Given the description of an element on the screen output the (x, y) to click on. 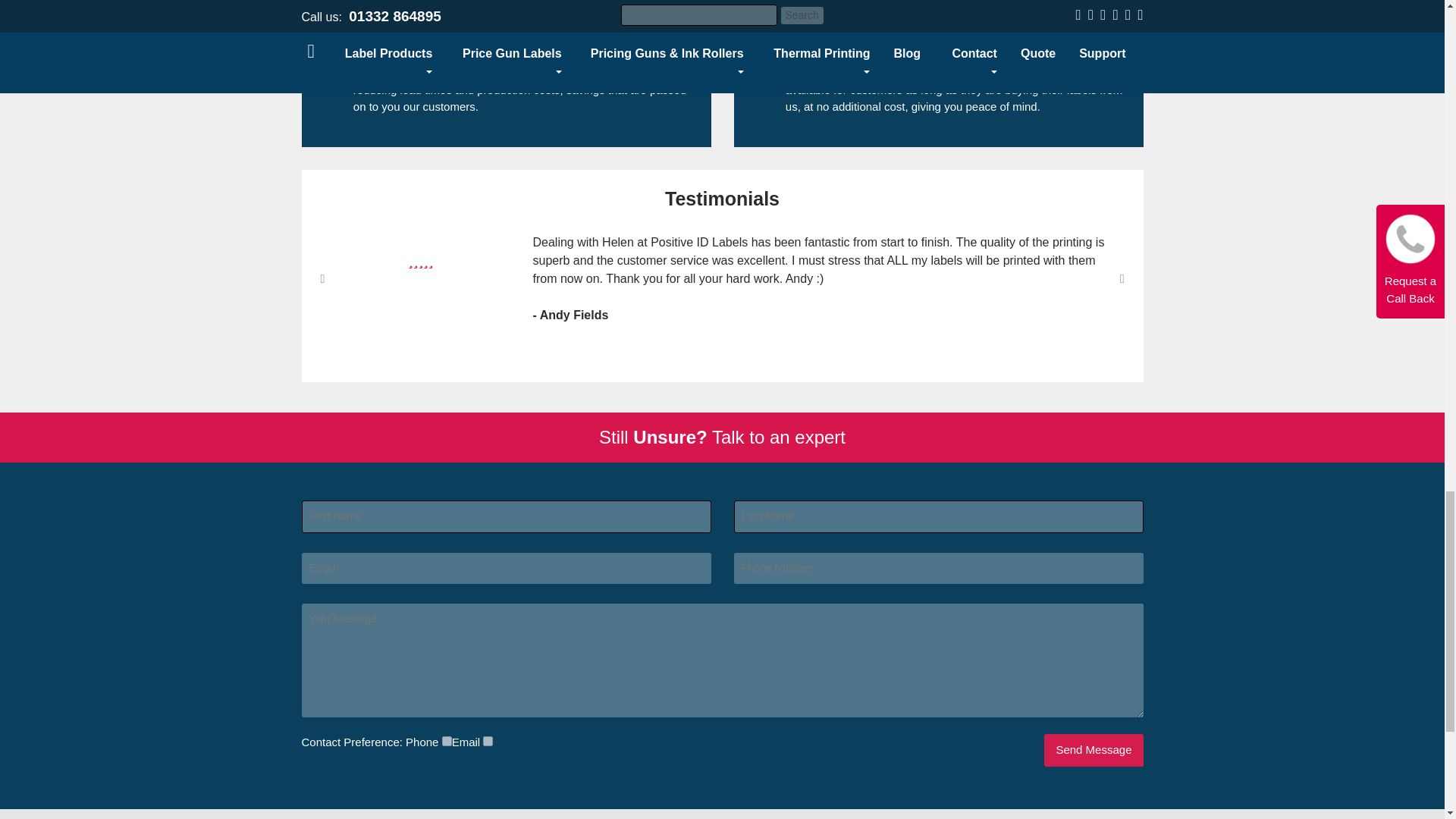
Send Message (1092, 749)
Email (488, 741)
Phone (446, 741)
